Given the description of an element on the screen output the (x, y) to click on. 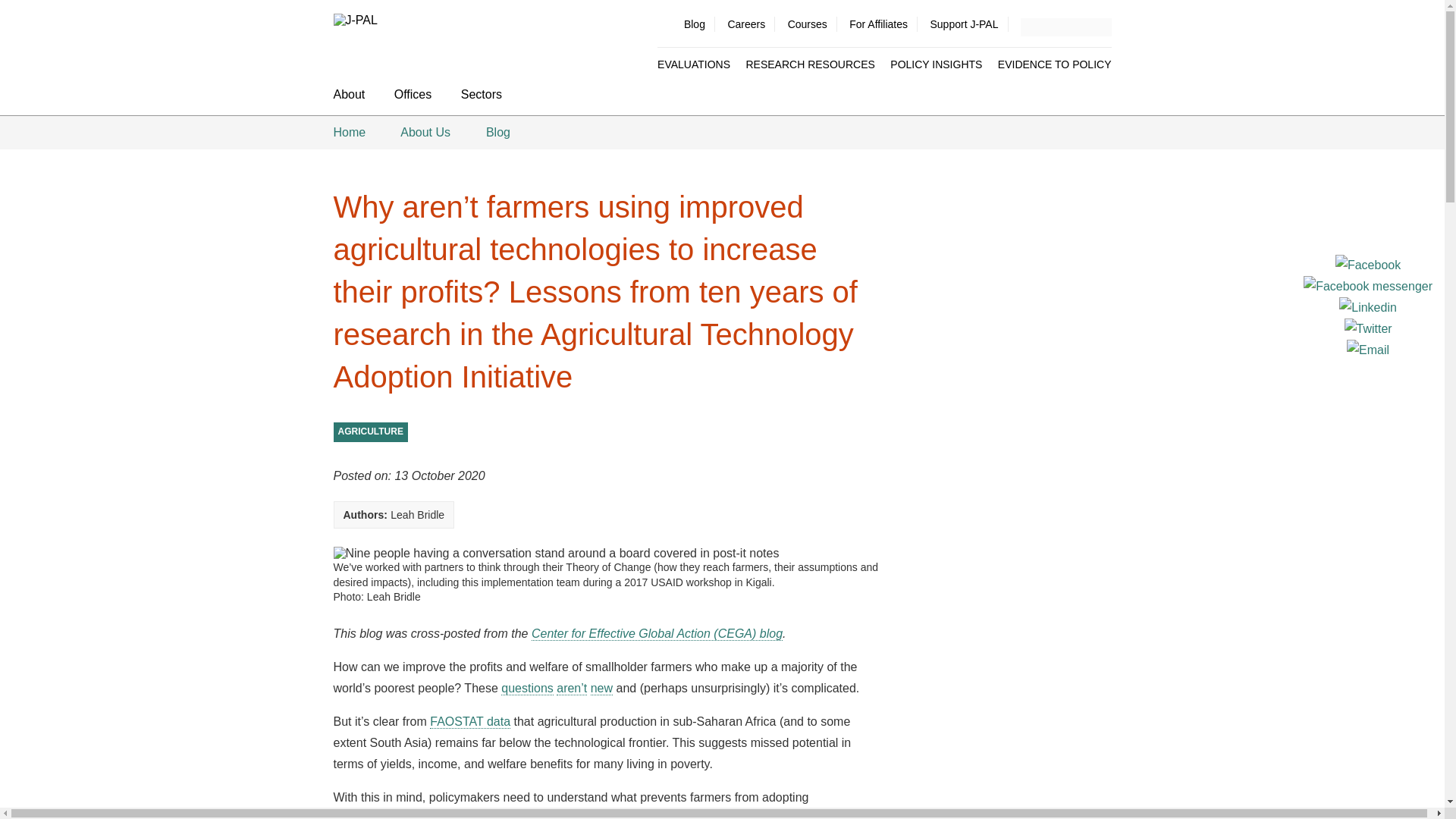
J-PAL (416, 20)
Twitter (1367, 327)
Email (1367, 349)
Facebook (1367, 264)
Search (1102, 25)
Facebook messenger (1367, 285)
Linkedin (1367, 306)
